Given the description of an element on the screen output the (x, y) to click on. 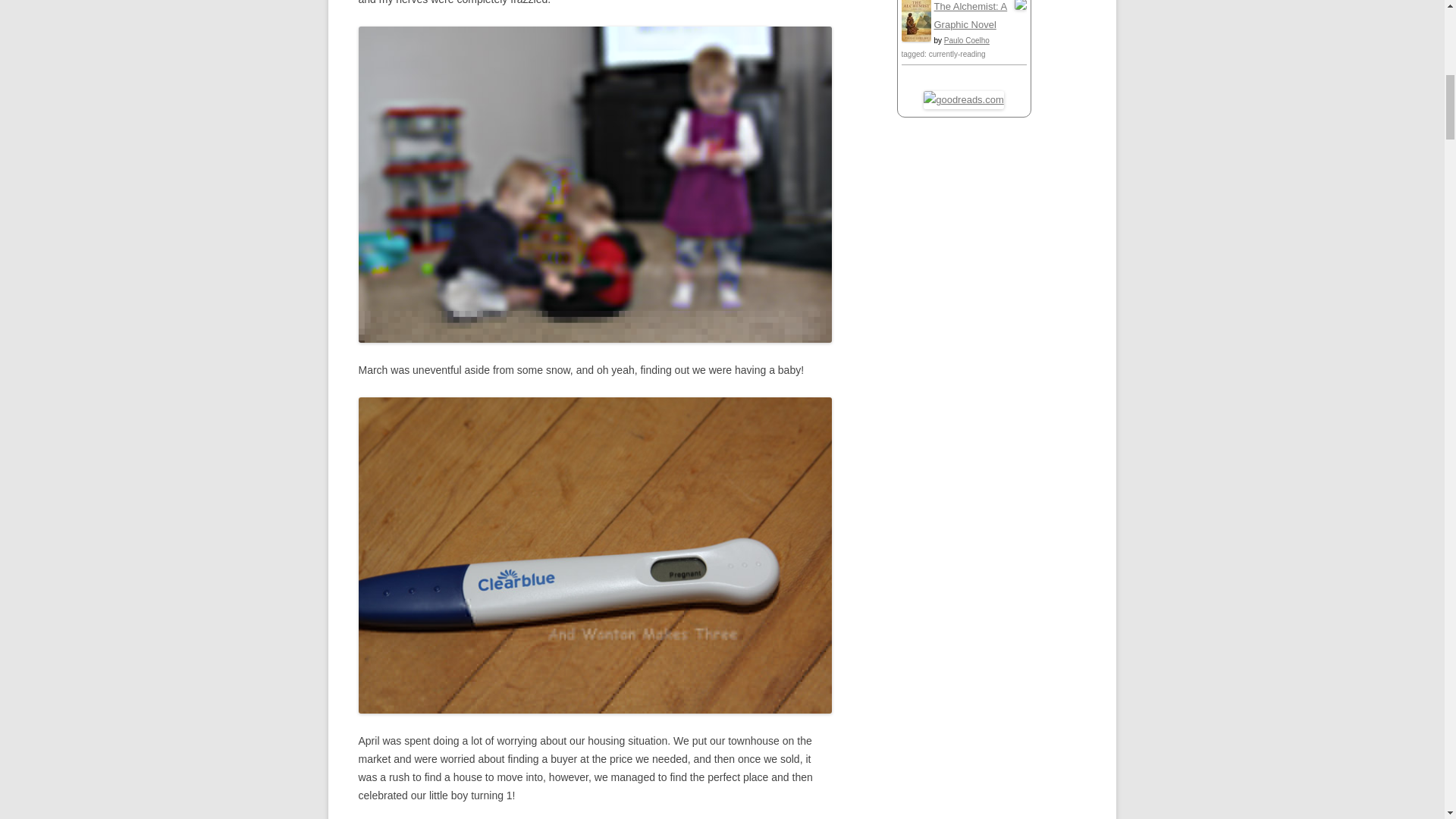
The Alchemist: A Graphic Novel (915, 38)
